Given the description of an element on the screen output the (x, y) to click on. 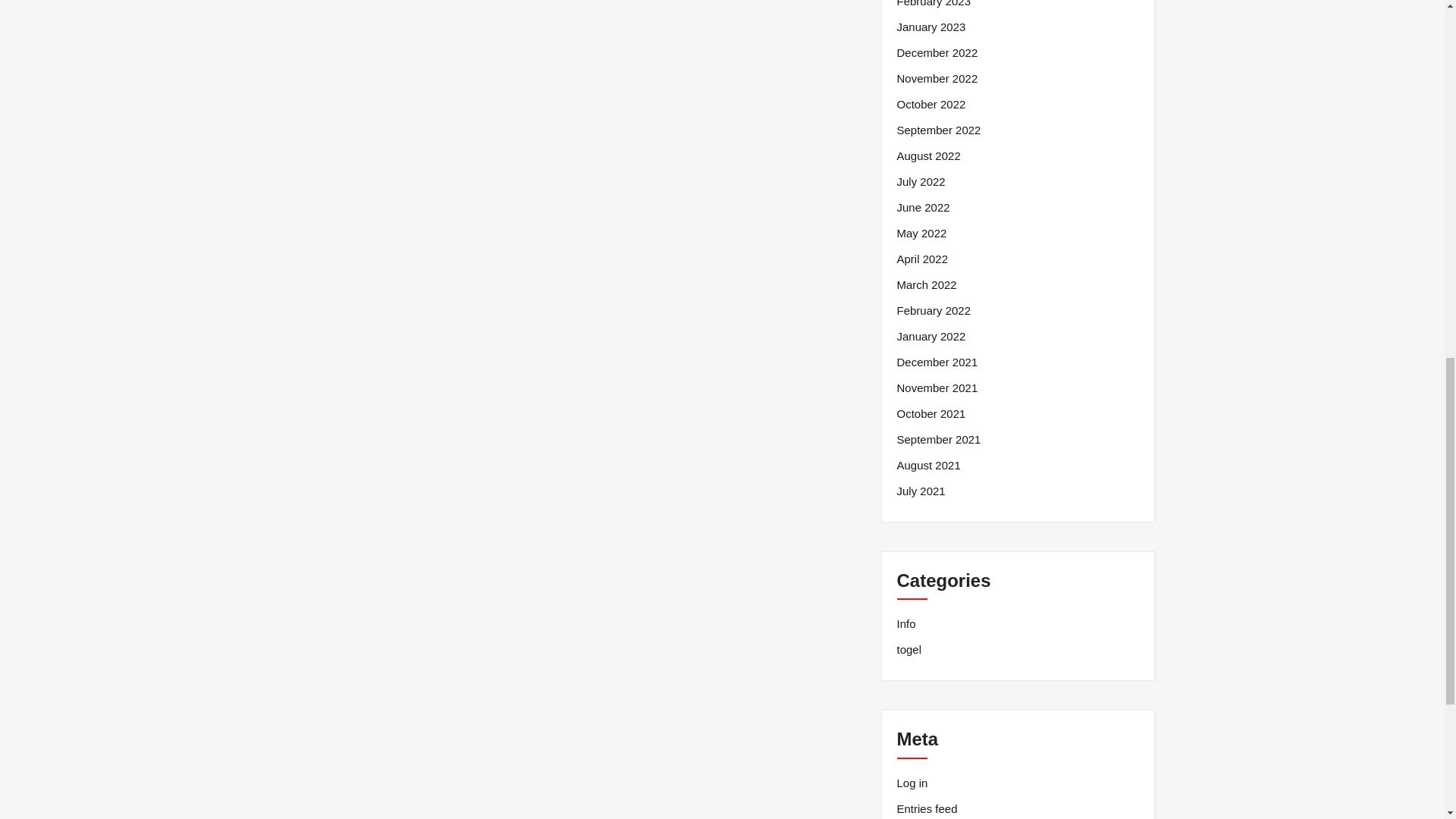
September 2022 (937, 130)
April 2022 (921, 259)
June 2022 (922, 208)
May 2022 (921, 233)
January 2023 (930, 27)
October 2022 (930, 104)
July 2022 (920, 181)
March 2022 (926, 285)
February 2023 (933, 5)
December 2022 (936, 53)
November 2022 (936, 78)
August 2022 (927, 156)
